Given the description of an element on the screen output the (x, y) to click on. 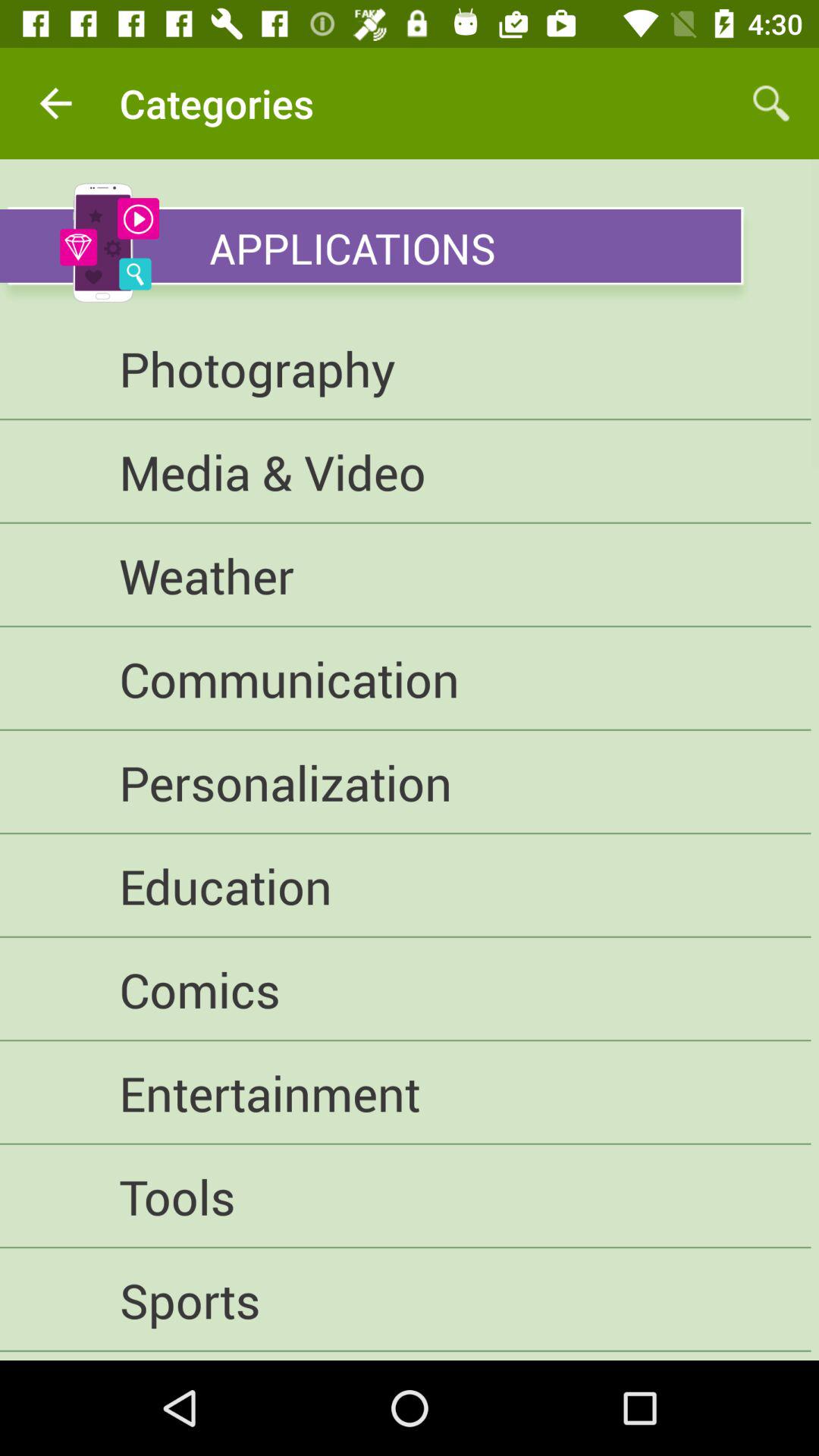
open the communication (405, 678)
